Given the description of an element on the screen output the (x, y) to click on. 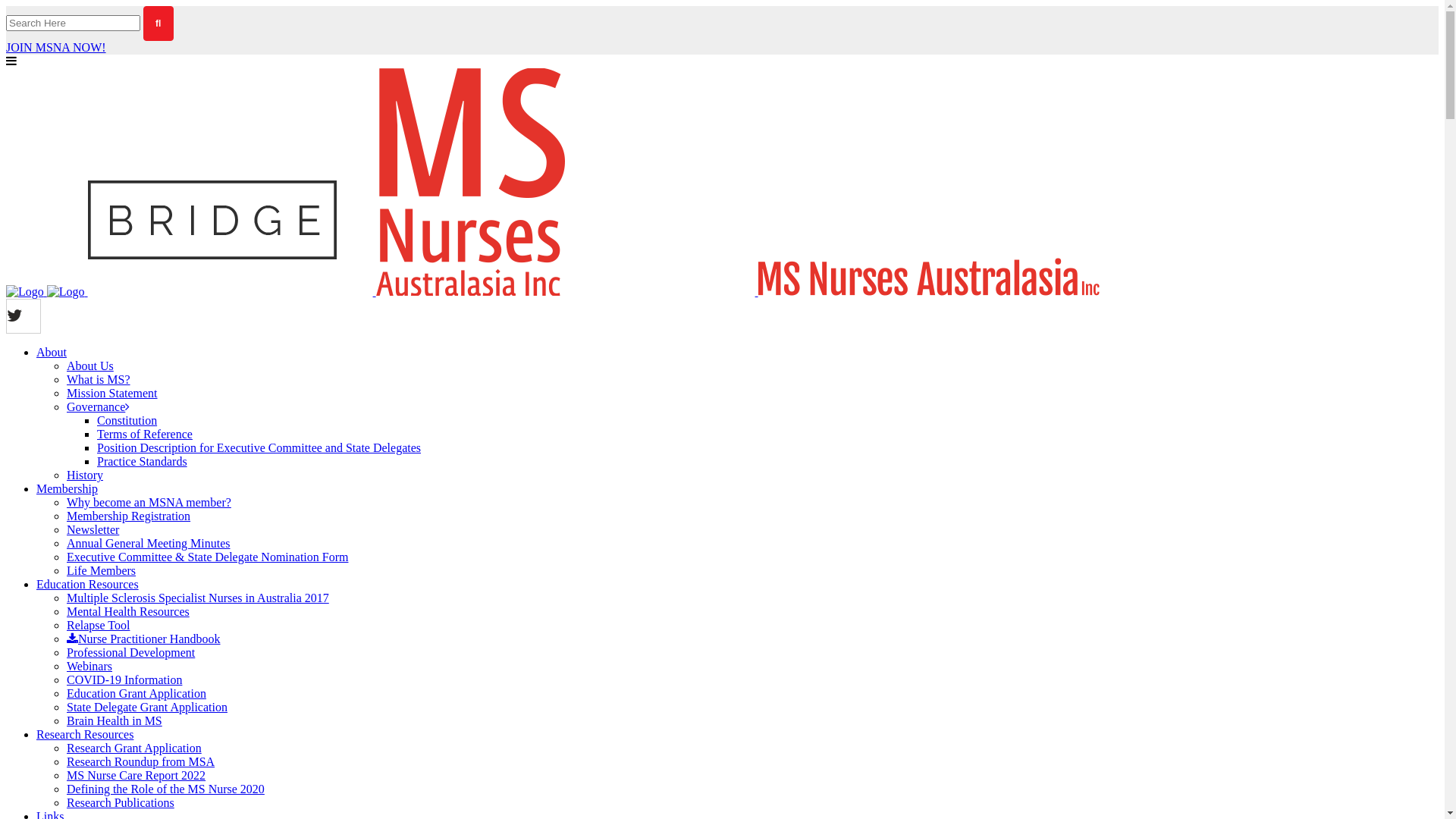
What is MS? Element type: text (98, 379)
Nurse Practitioner Handbook Element type: text (143, 638)
Annual General Meeting Minutes Element type: text (148, 542)
Membership Registration Element type: text (128, 515)
About Element type: text (51, 351)
Education Resources Element type: text (87, 583)
Mission Statement Element type: text (111, 392)
Defining the Role of the MS Nurse 2020 Element type: text (165, 788)
Life Members Element type: text (100, 570)
Mental Health Resources Element type: text (127, 611)
MS Nurse Care Report 2022 Element type: text (135, 774)
Terms of Reference Element type: text (144, 433)
JOIN MSNA NOW! Element type: text (56, 46)
Research Grant Application Element type: text (133, 747)
Research Resources Element type: text (84, 734)
Membership Element type: text (66, 488)
Webinars Element type: text (89, 665)
COVID-19 Information Element type: text (124, 679)
Brain Health in MS Element type: text (114, 720)
History Element type: text (84, 474)
Why become an MSNA member? Element type: text (148, 501)
About Us Element type: text (89, 365)
Constitution Element type: text (126, 420)
Newsletter Element type: text (92, 529)
State Delegate Grant Application Element type: text (146, 706)
Professional Development Element type: text (130, 652)
Executive Committee & State Delegate Nomination Form Element type: text (207, 556)
Relapse Tool Element type: text (97, 624)
Education Grant Application Element type: text (136, 693)
Governance Element type: text (97, 406)
Research Roundup from MSA Element type: text (140, 761)
Multiple Sclerosis Specialist Nurses in Australia 2017 Element type: text (197, 597)
Practice Standards Element type: text (142, 461)
Research Publications Element type: text (120, 802)
